Given the description of an element on the screen output the (x, y) to click on. 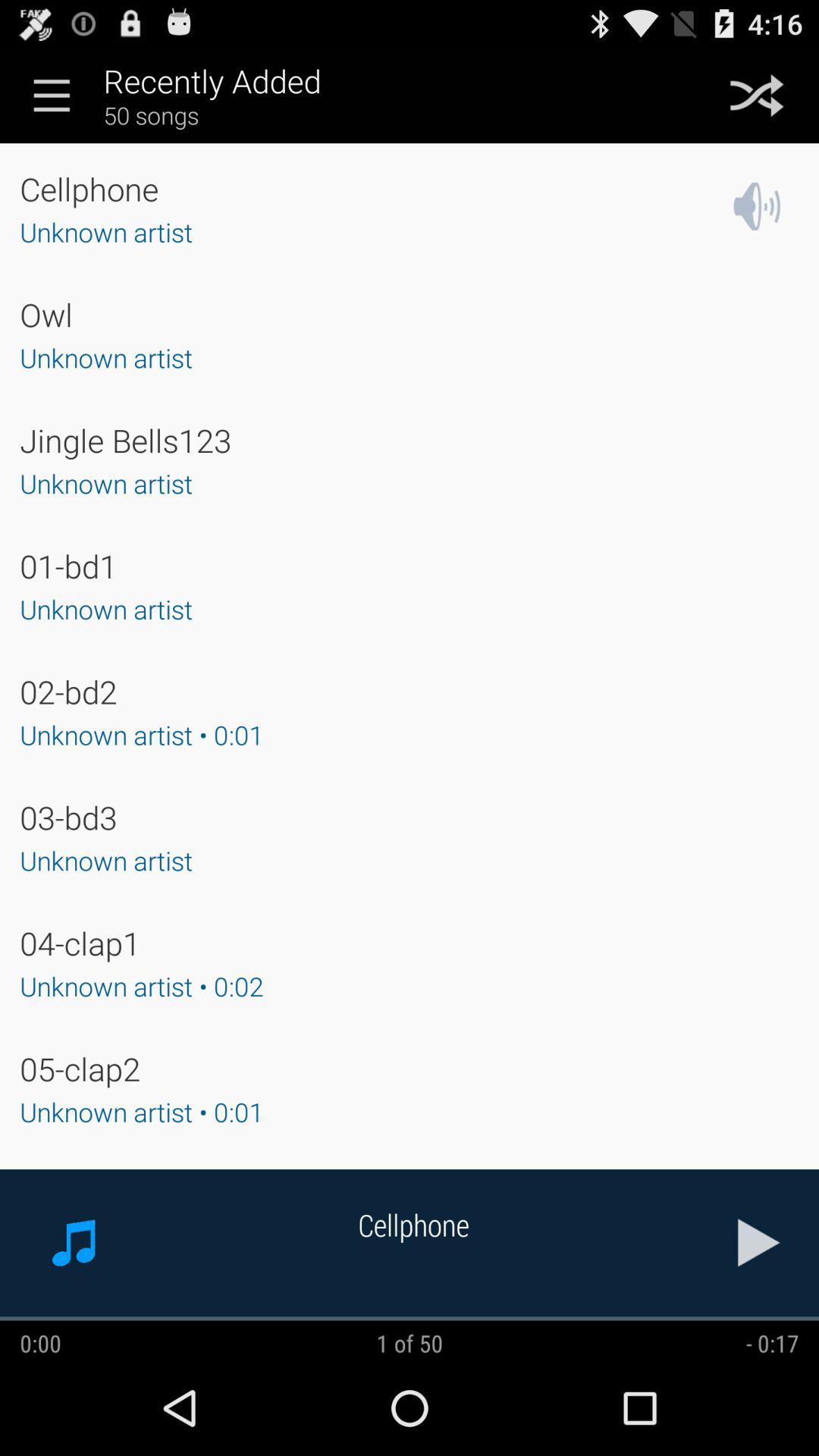
suffle button (756, 95)
